Given the description of an element on the screen output the (x, y) to click on. 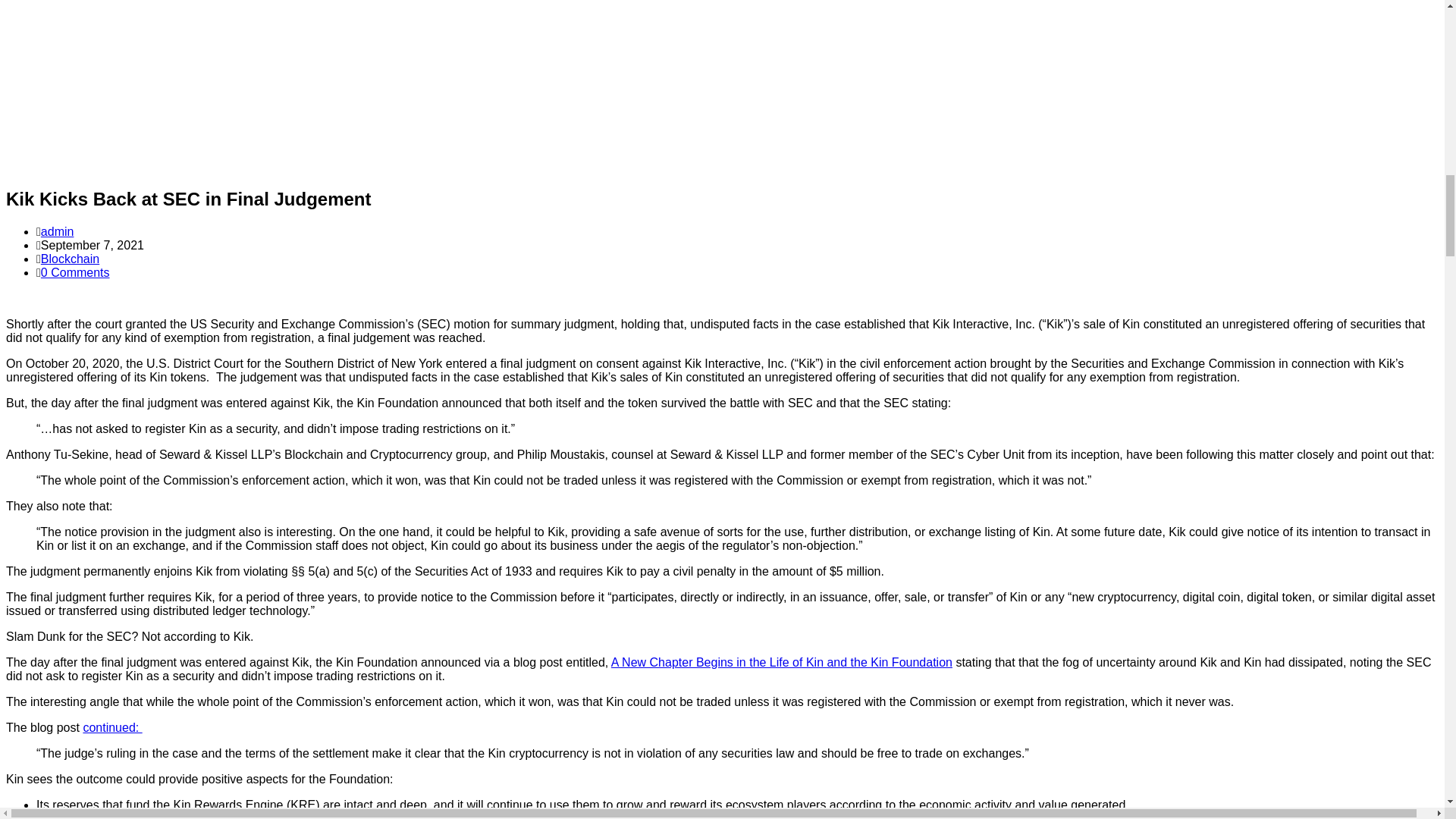
Posts by admin (57, 231)
